Given the description of an element on the screen output the (x, y) to click on. 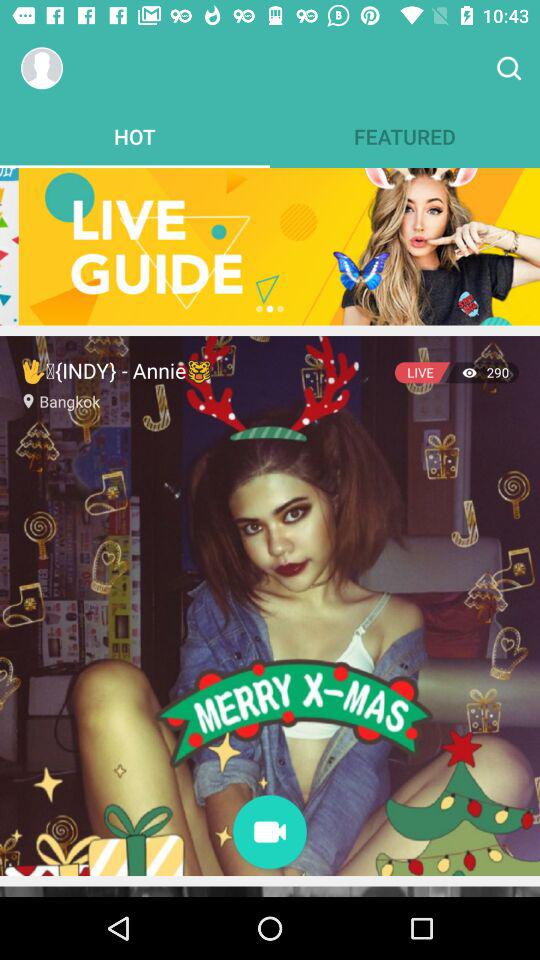
use camera (269, 834)
